Given the description of an element on the screen output the (x, y) to click on. 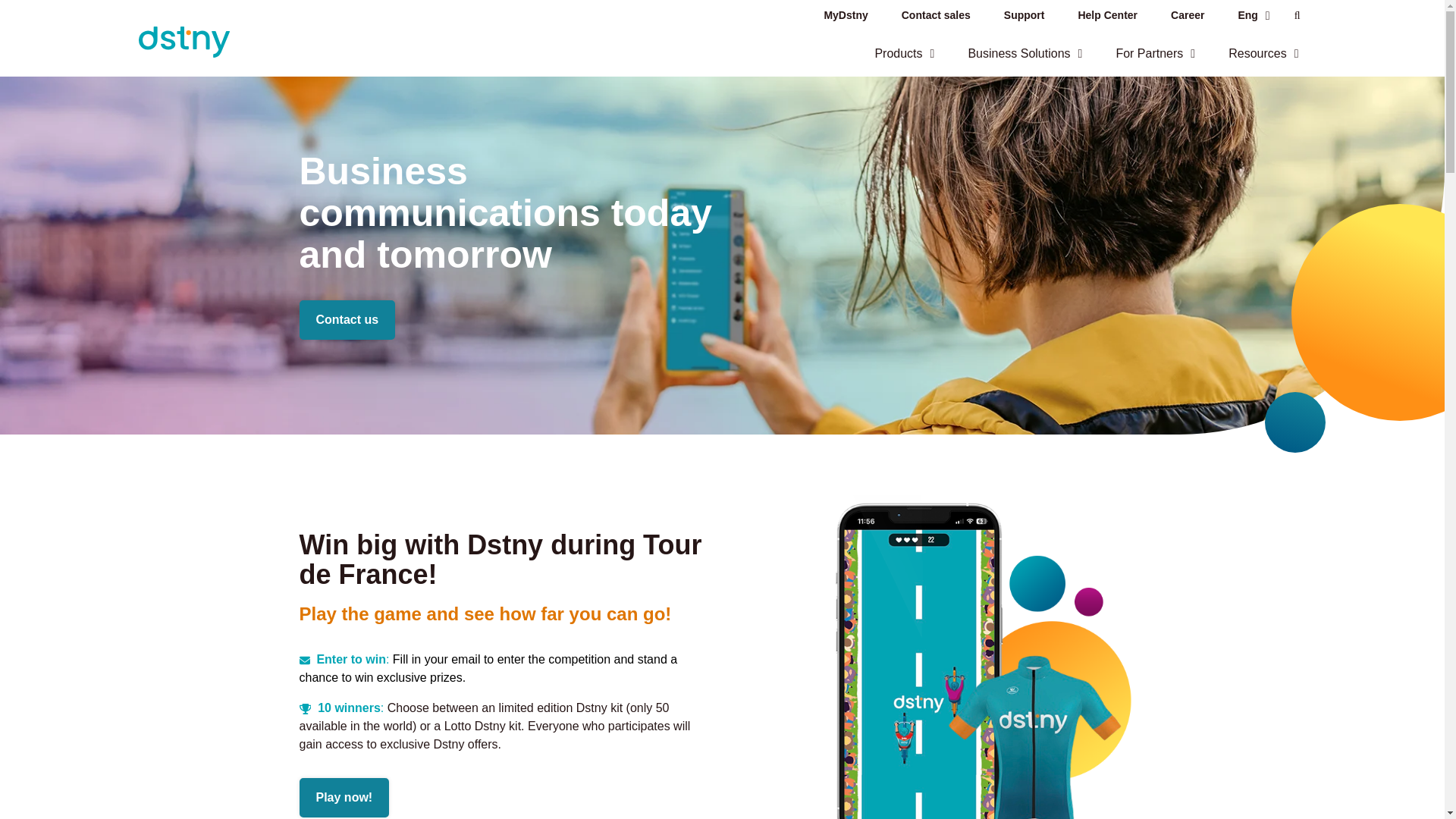
Help Center (1107, 15)
Support (1023, 15)
MyDstny (845, 15)
Contact sales (935, 15)
Career (1187, 15)
